Given the description of an element on the screen output the (x, y) to click on. 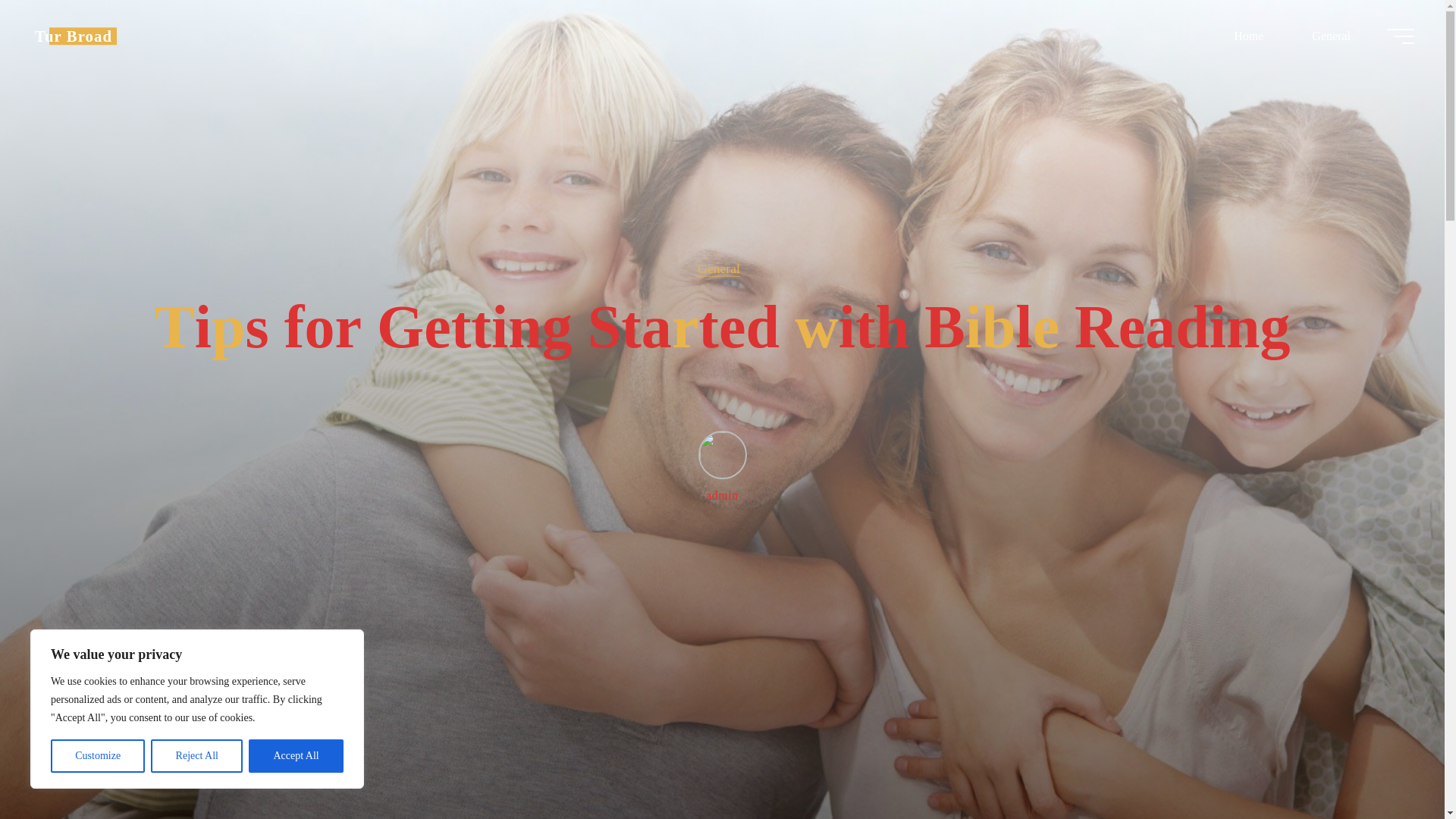
Customize (97, 756)
Reject All (197, 756)
Home (1248, 35)
Read more (721, 724)
Blog (73, 36)
Tur Broad (73, 36)
Accept All (295, 756)
General (718, 268)
General (1330, 35)
